Given the description of an element on the screen output the (x, y) to click on. 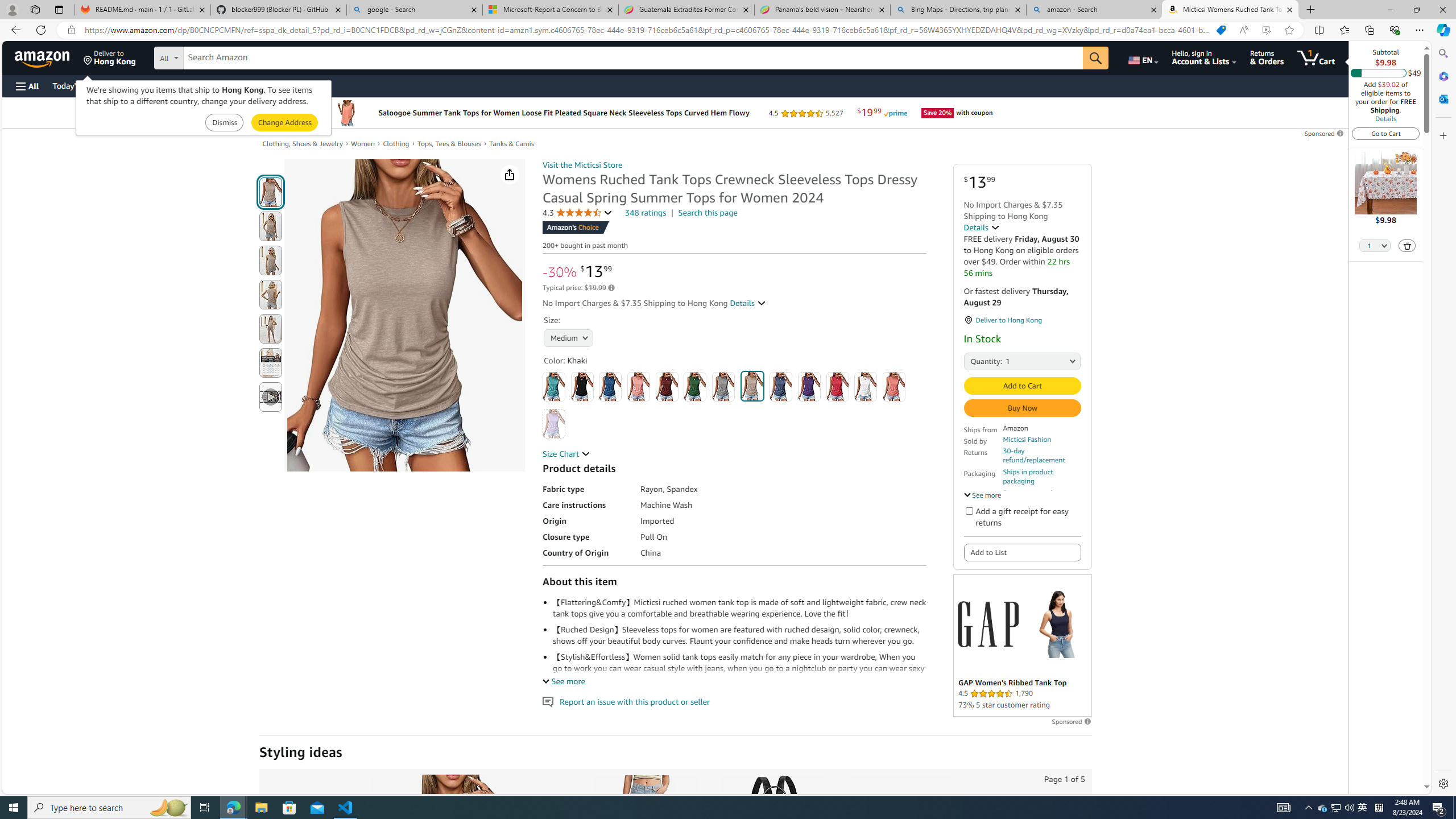
White (865, 386)
Green (695, 386)
Today's Deals (76, 85)
Share (509, 174)
Tops, Tees & Blouses (448, 144)
Size Chart  (566, 453)
1 item in cart (1315, 57)
Change Address (284, 122)
